Given the description of an element on the screen output the (x, y) to click on. 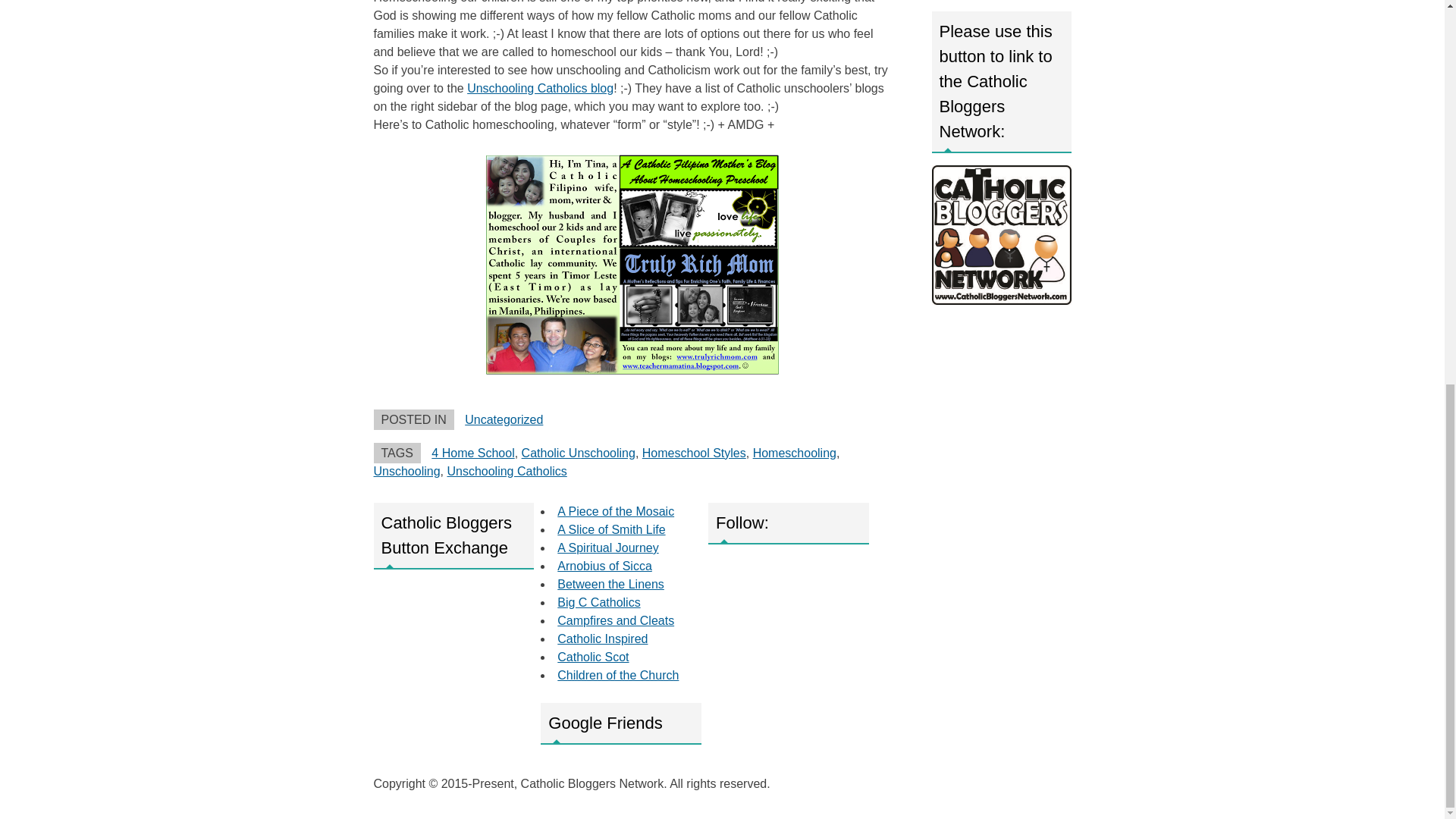
Unschooling (405, 471)
Homeschool Styles (693, 452)
Unschooling Catholics blog (539, 88)
Uncategorized (503, 419)
Homeschooling (793, 452)
4 Home School (471, 452)
Unschooling Catholics (506, 471)
Catholic Unschooling (577, 452)
